Given the description of an element on the screen output the (x, y) to click on. 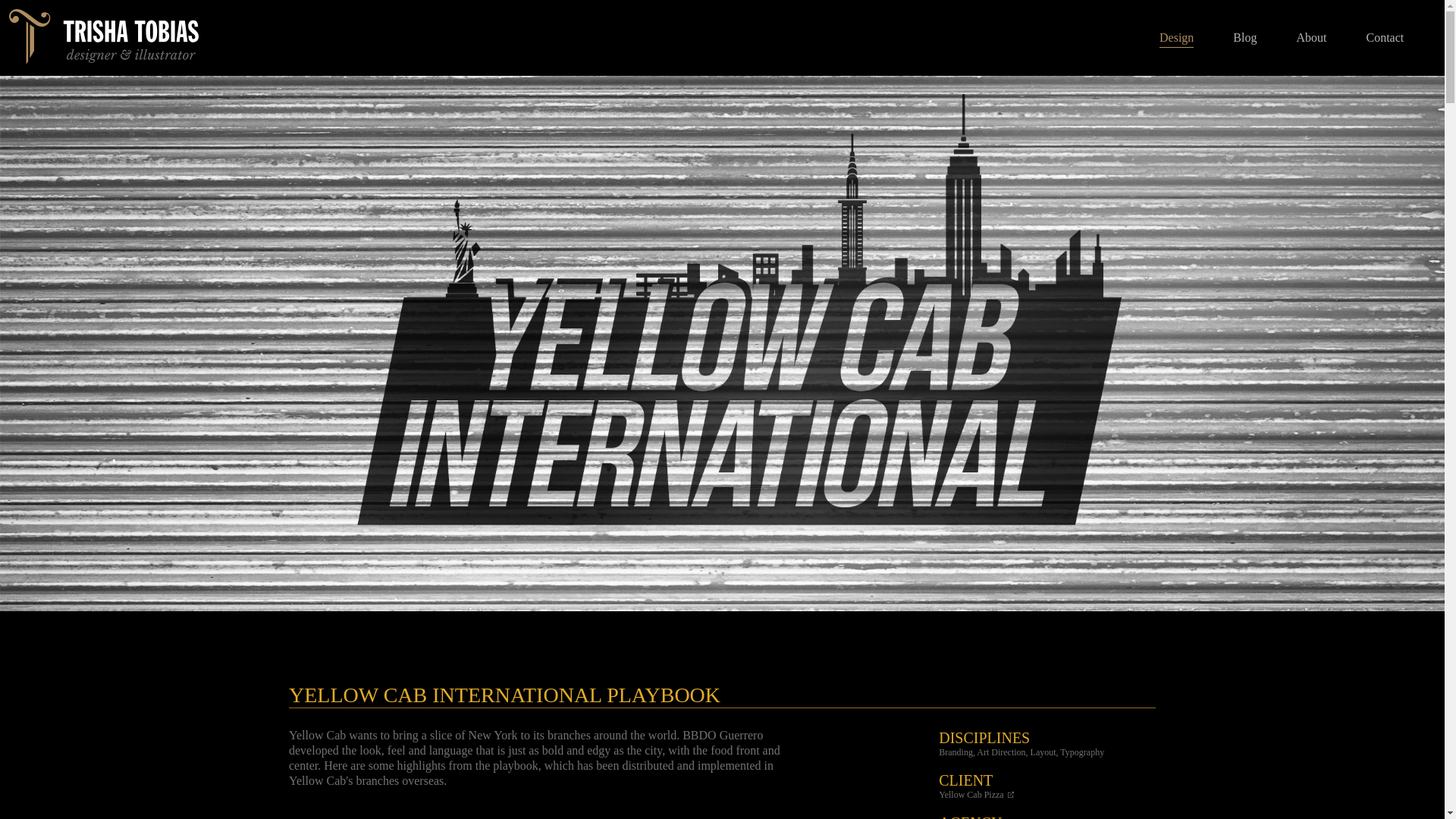
About (1310, 37)
Yellow Cab Pizza (976, 794)
Design (1175, 39)
Contact (1384, 37)
Blog (1244, 37)
